Given the description of an element on the screen output the (x, y) to click on. 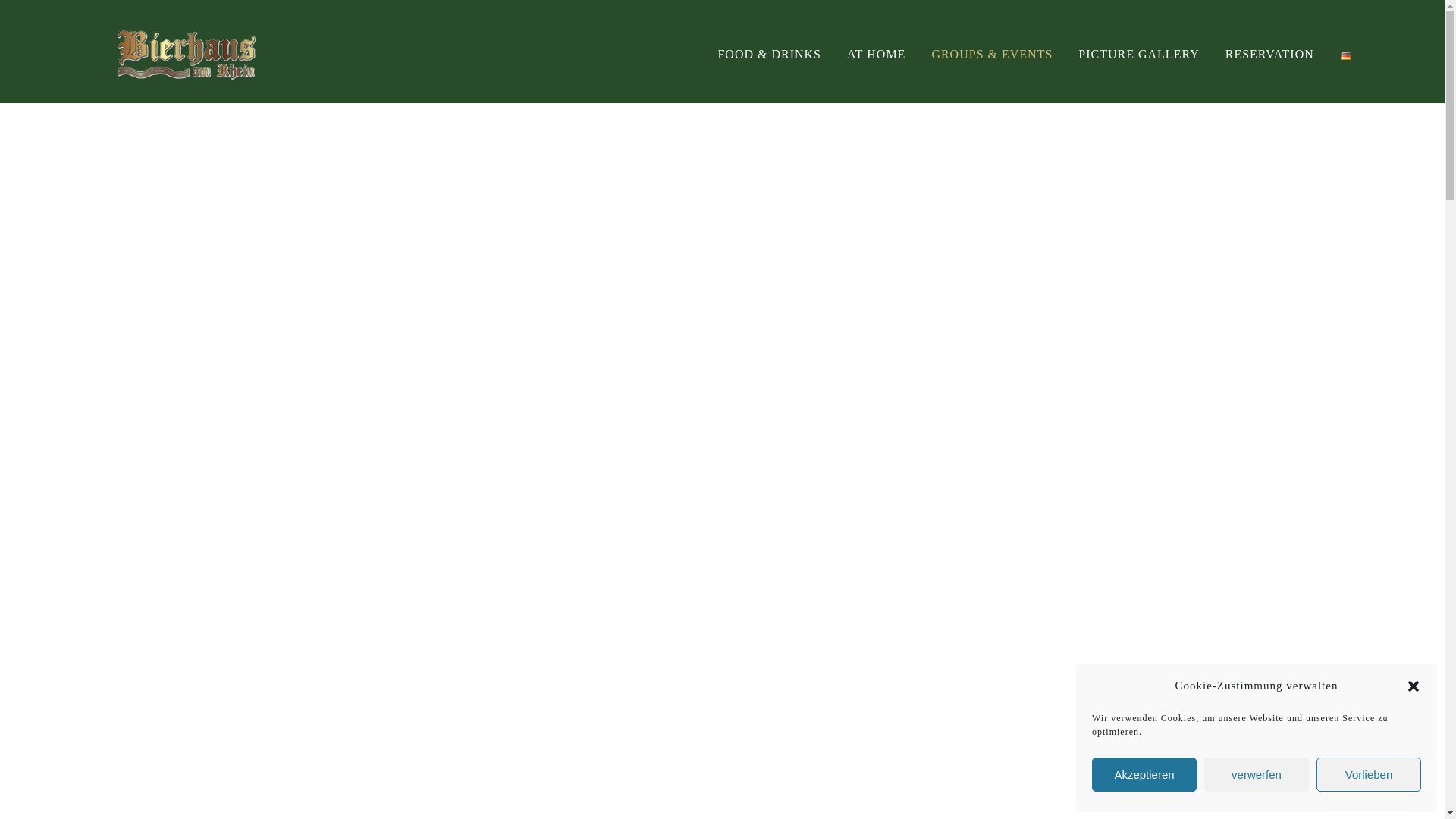
Akzeptieren (1144, 774)
verwerfen (1256, 774)
RESERVATION (1269, 53)
Vorlieben (1368, 774)
PICTURE GALLERY (1138, 53)
